Given the description of an element on the screen output the (x, y) to click on. 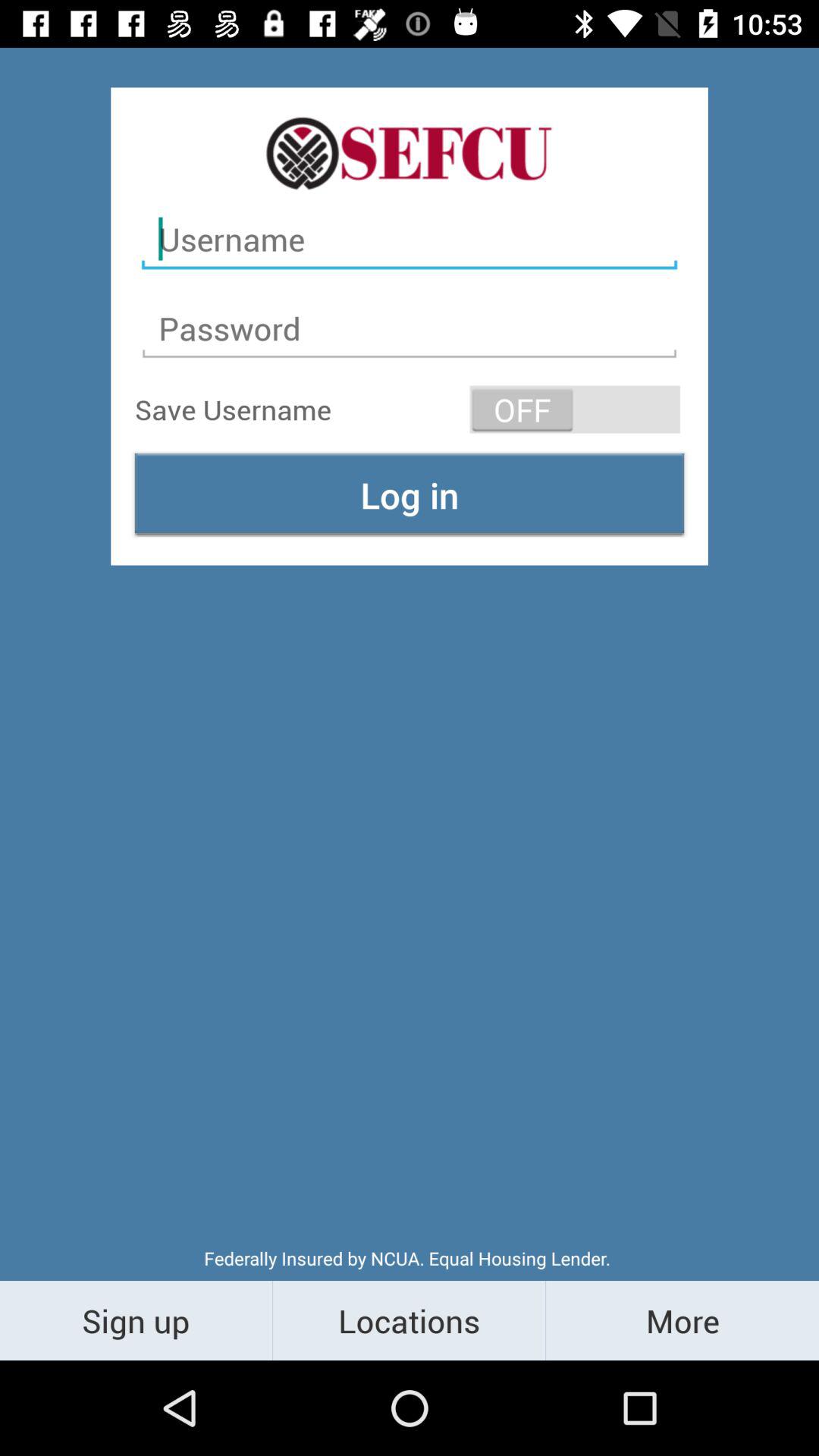
open more icon (682, 1320)
